Given the description of an element on the screen output the (x, y) to click on. 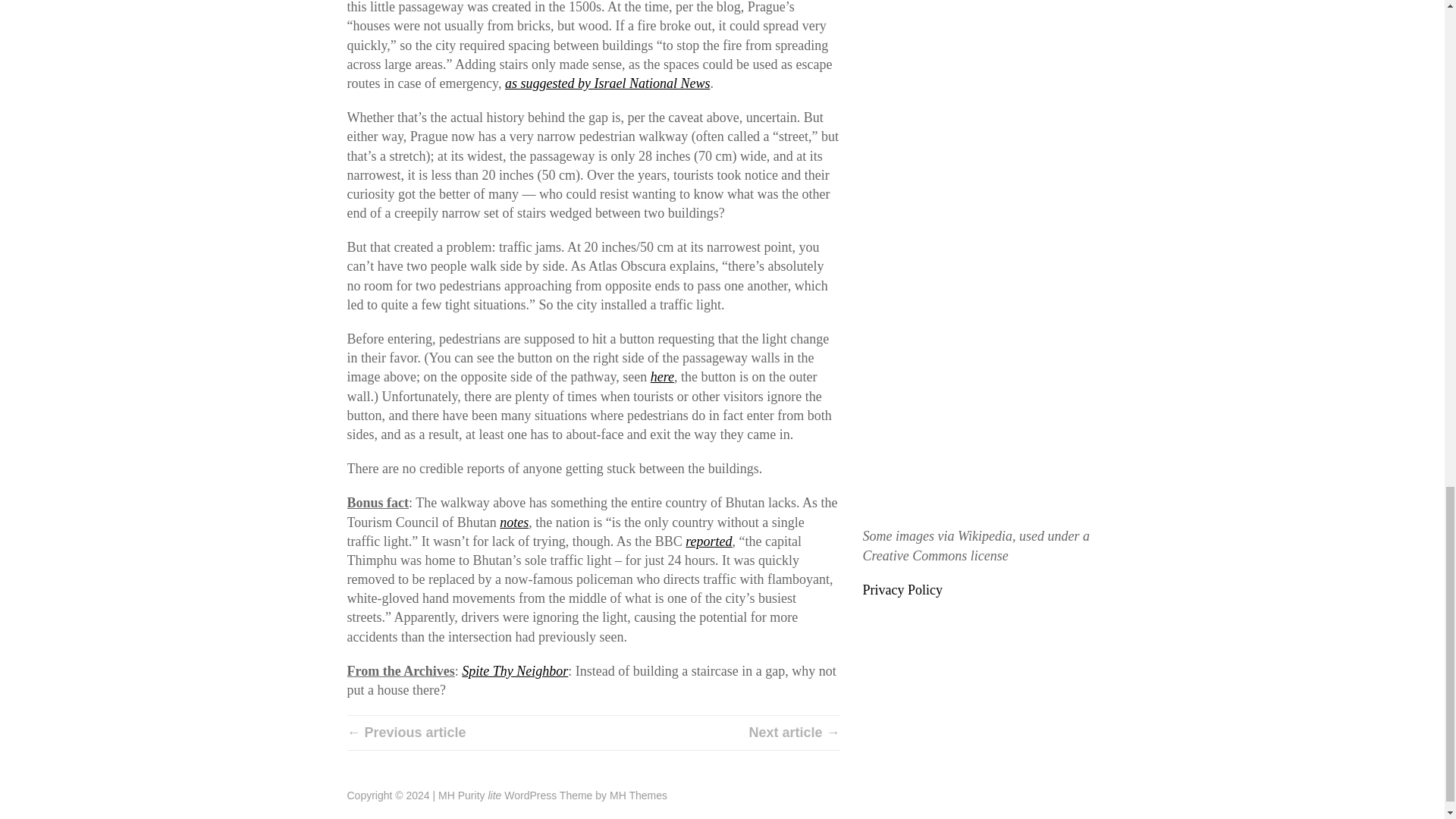
reported (708, 540)
notes (513, 522)
MH Themes (638, 795)
Privacy Policy (903, 589)
Spite Thy Neighbor (514, 670)
here (662, 376)
as suggested by Israel National News (607, 83)
